Given the description of an element on the screen output the (x, y) to click on. 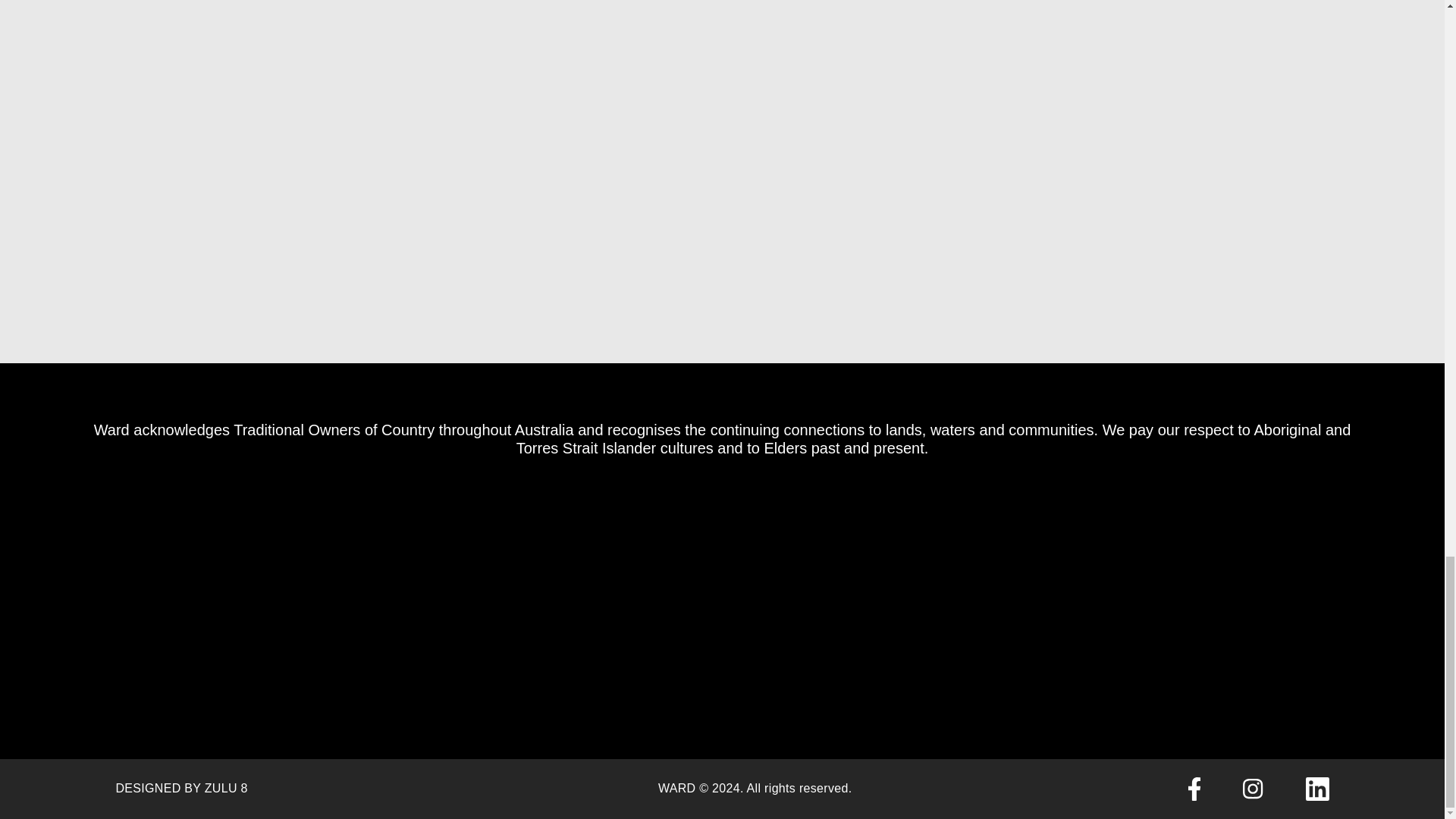
up (1277, 293)
up (1277, 293)
Instagram (1252, 788)
linkedin (1317, 788)
